Given the description of an element on the screen output the (x, y) to click on. 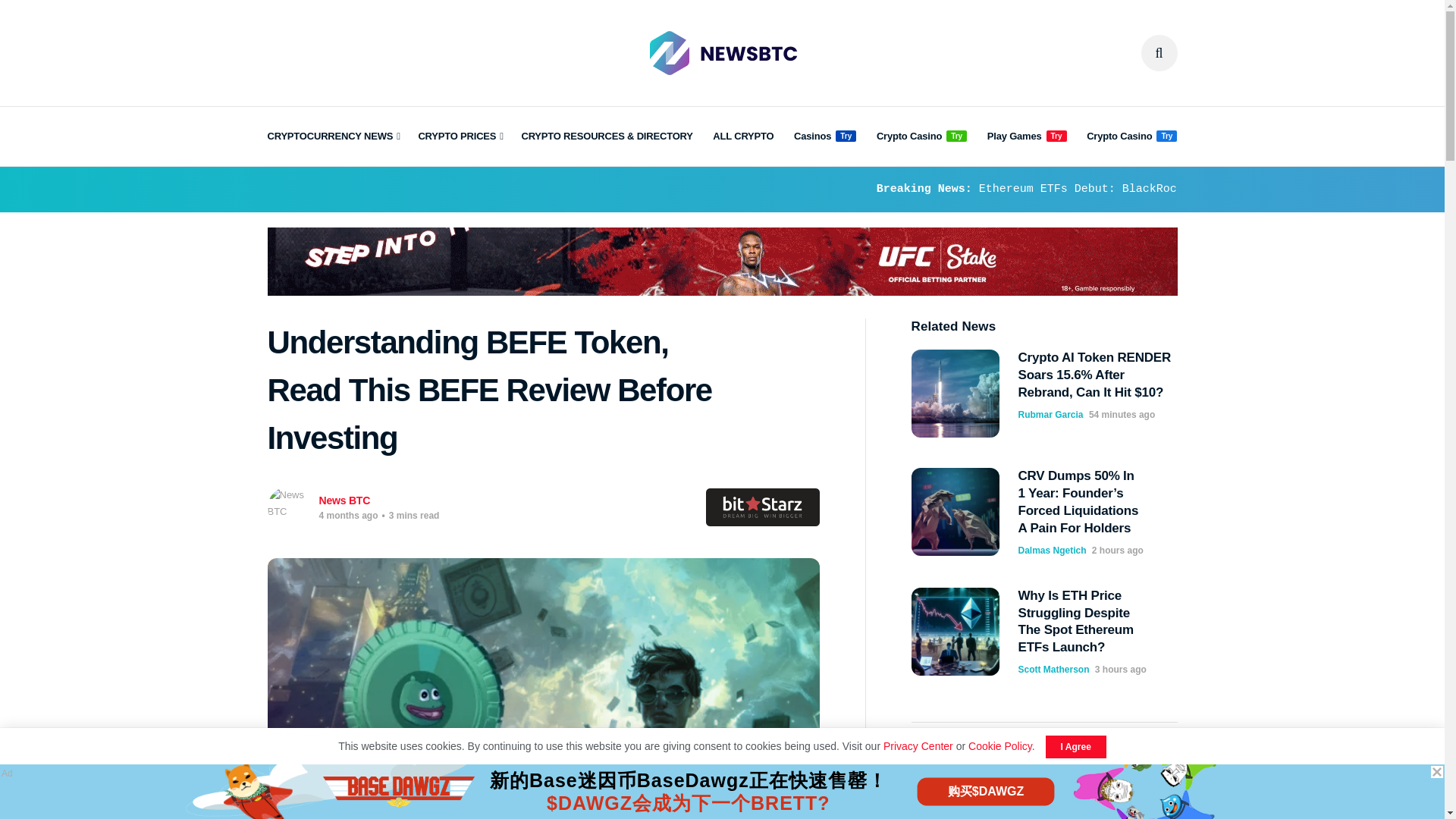
CRYPTOCURRENCY NEWS (331, 136)
CRYPTO PRICES (458, 136)
ALL CRYPTO (743, 136)
